Given the description of an element on the screen output the (x, y) to click on. 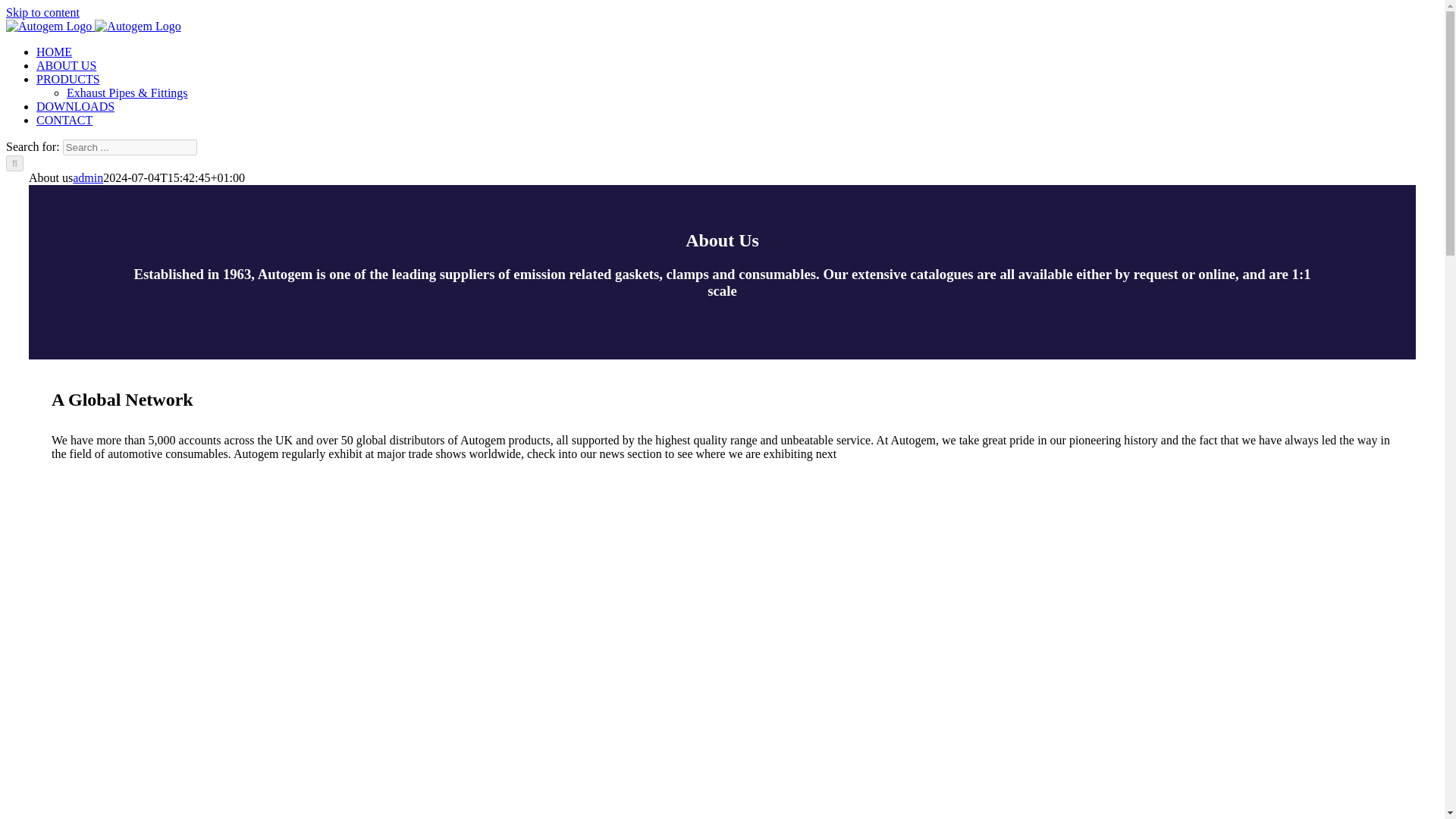
Posts by admin (87, 177)
admin (87, 177)
HOME (53, 51)
ABOUT US (66, 65)
go front page (66, 65)
Skip to content (42, 11)
CONTACT (64, 119)
DOWNLOADS (75, 106)
